Given the description of an element on the screen output the (x, y) to click on. 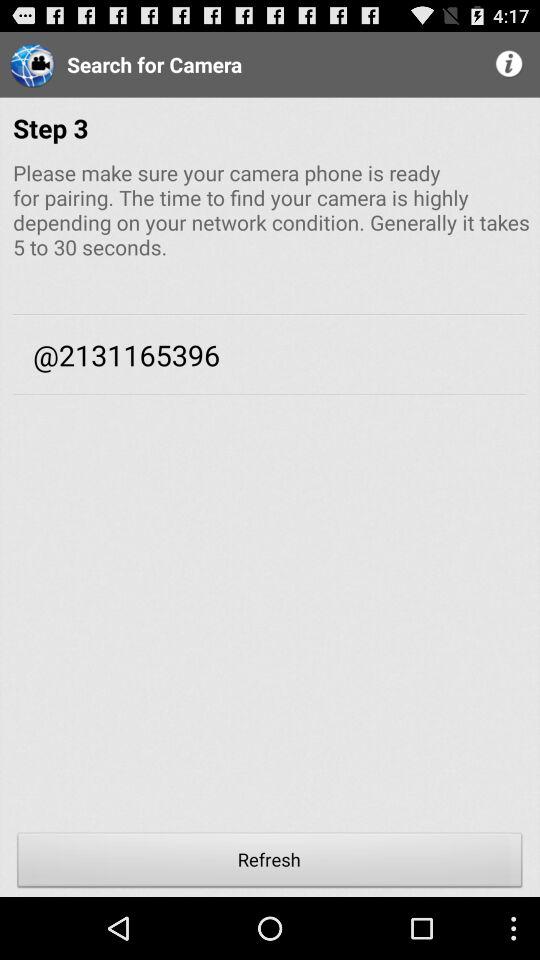
scroll until the refresh button (269, 862)
